Given the description of an element on the screen output the (x, y) to click on. 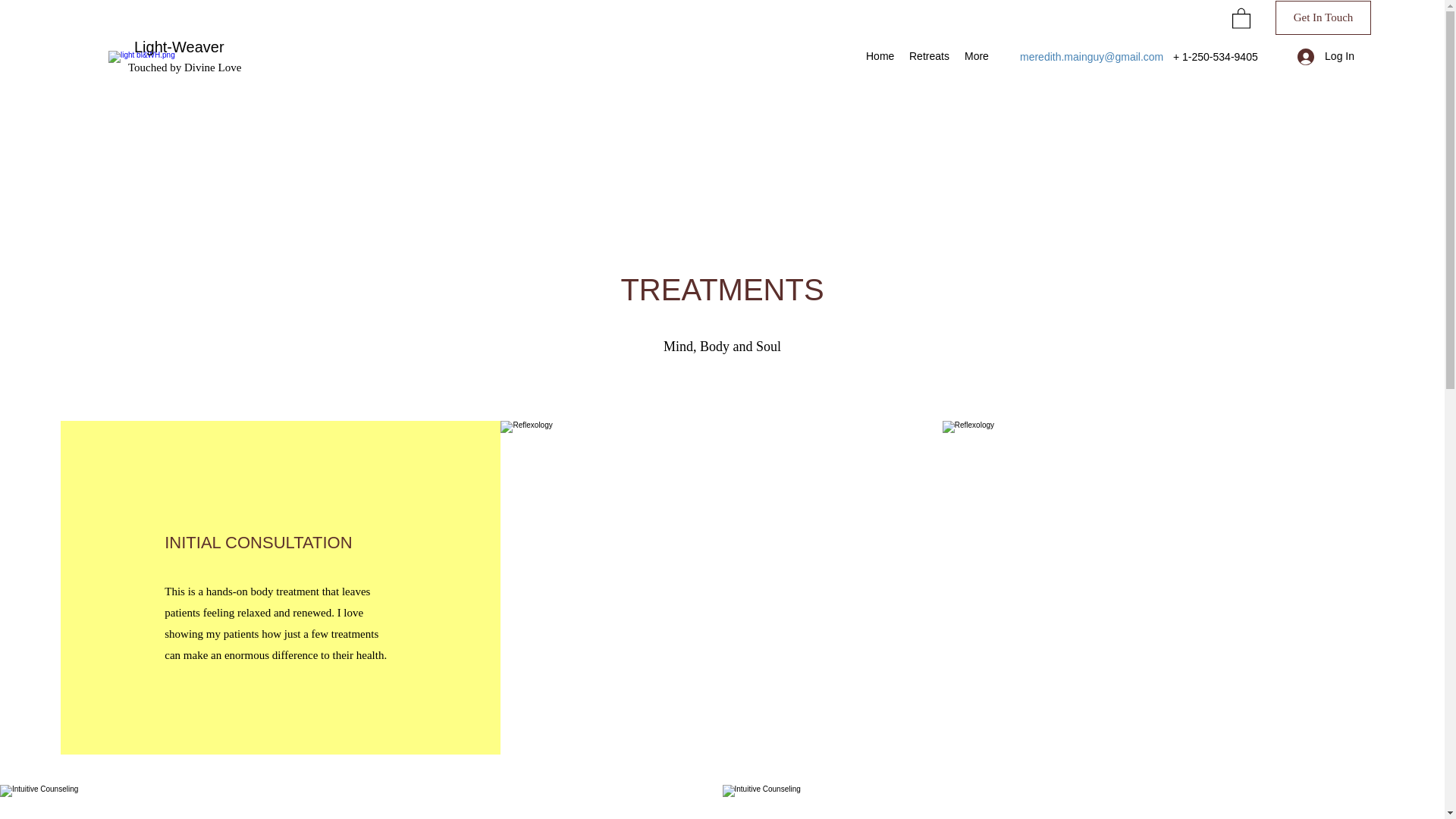
Home (880, 56)
Light-Weaver (178, 46)
Retreats (928, 56)
Log In (1326, 56)
